Given the description of an element on the screen output the (x, y) to click on. 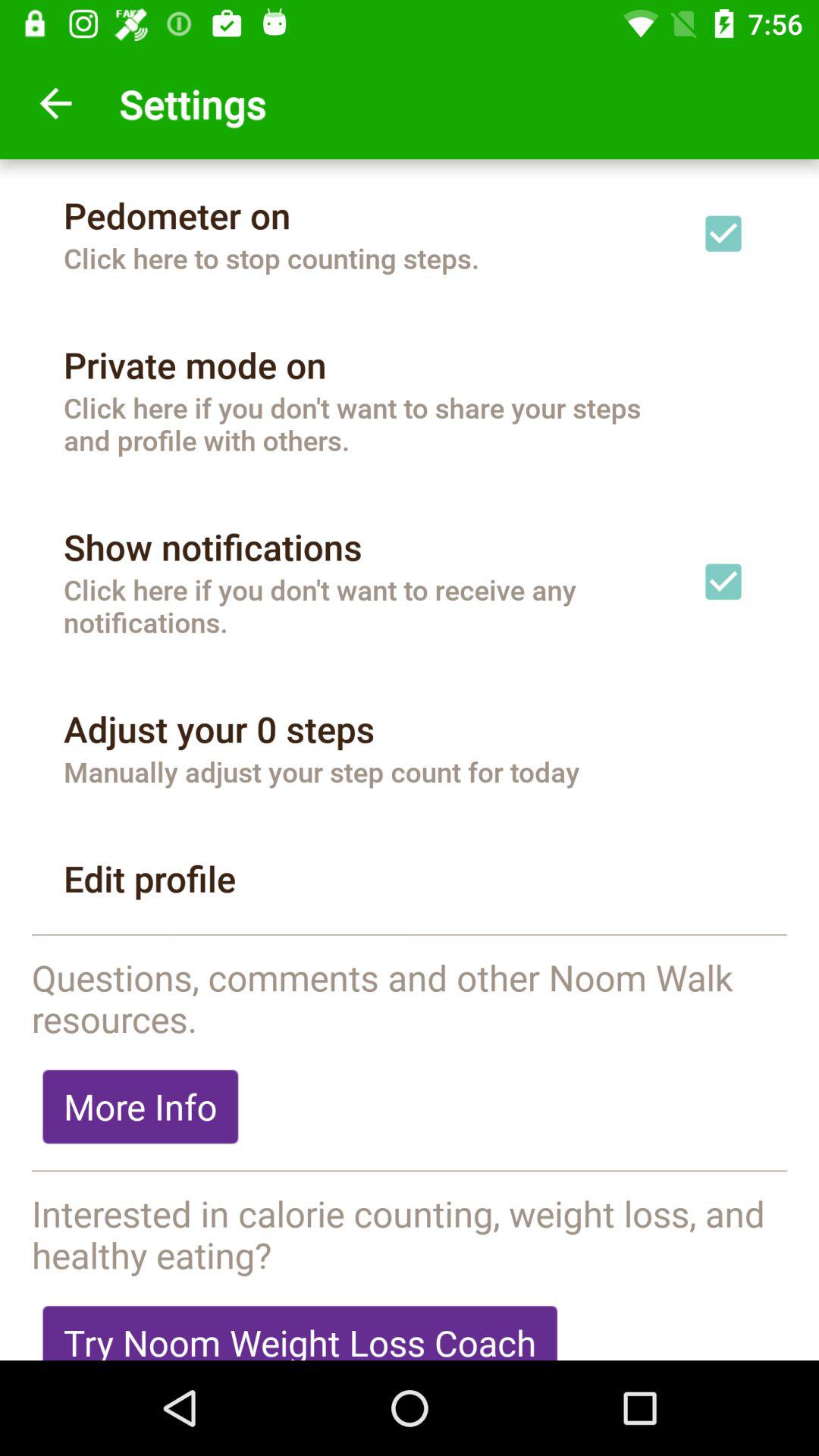
choose item below the questions comments and item (140, 1106)
